Given the description of an element on the screen output the (x, y) to click on. 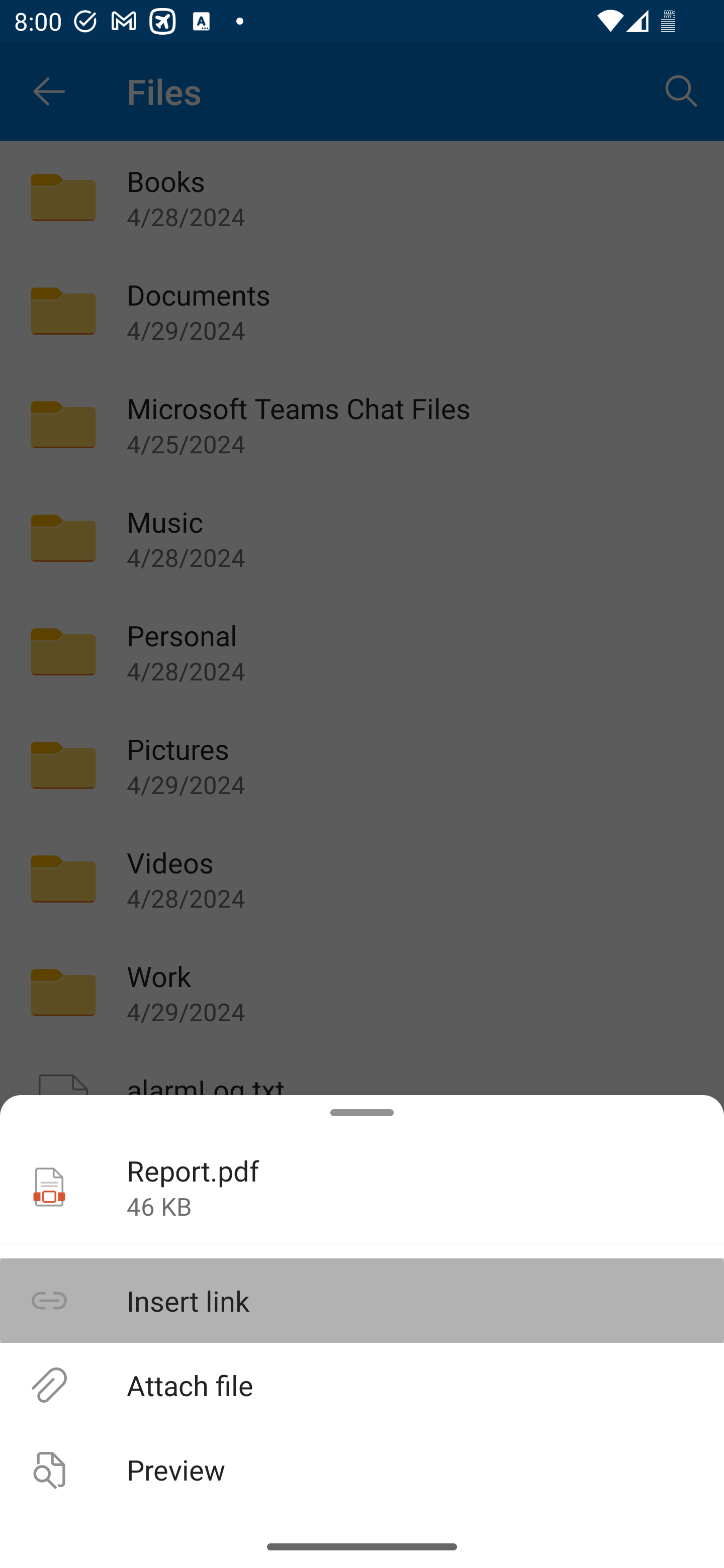
Insert link (362, 1300)
Attach file (362, 1384)
Preview (362, 1468)
